Given the description of an element on the screen output the (x, y) to click on. 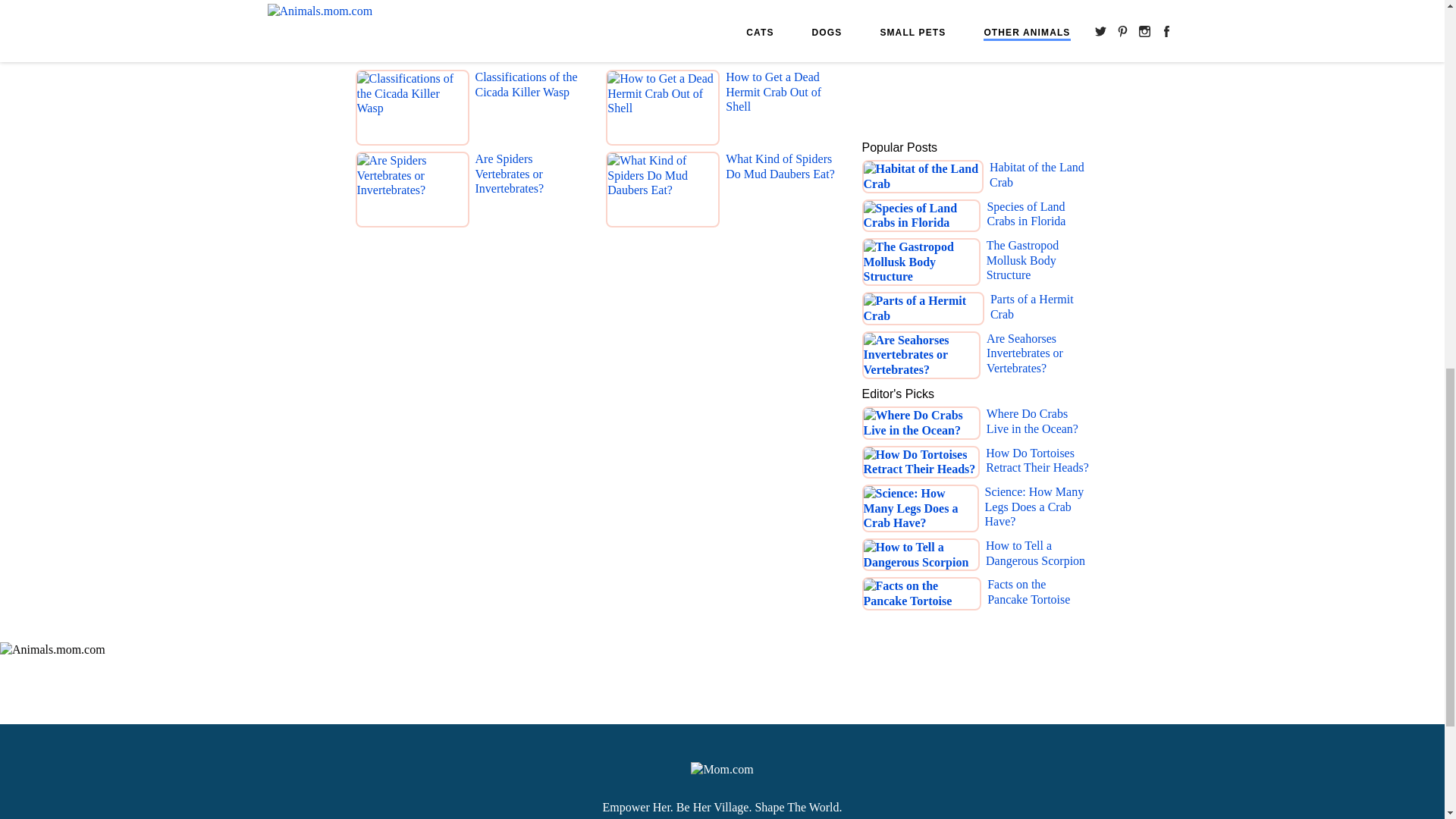
How to Get a Dead Hermit Crab Out of Shell (781, 110)
Classifications of the Cicada Killer Wasp (530, 110)
What Kind of Spiders Do Mud Daubers Eat? (781, 192)
Are Spiders Vertebrates or Invertebrates? (530, 192)
